Given the description of an element on the screen output the (x, y) to click on. 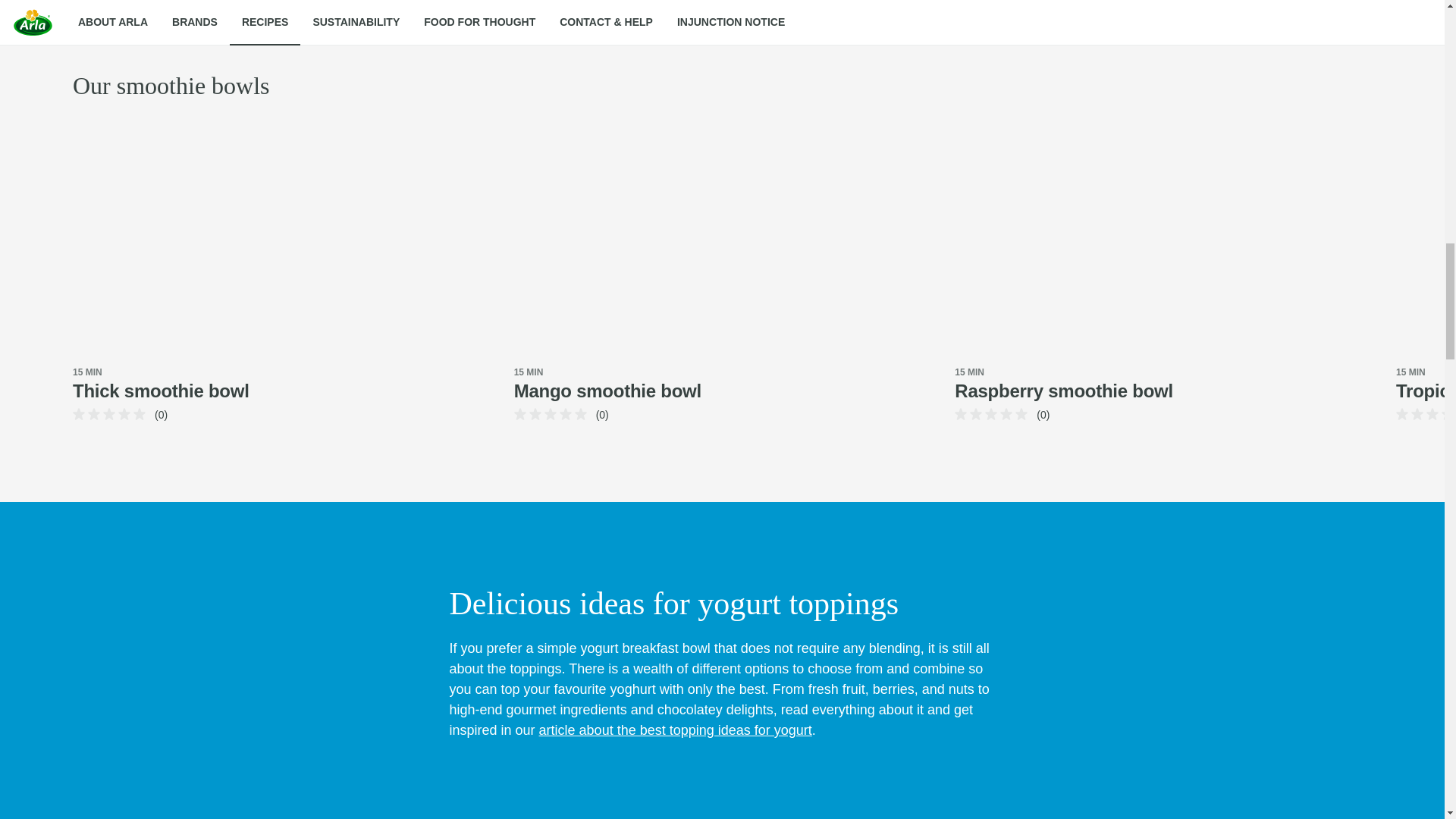
article about the best topping ideas for yogurt (675, 729)
